Given the description of an element on the screen output the (x, y) to click on. 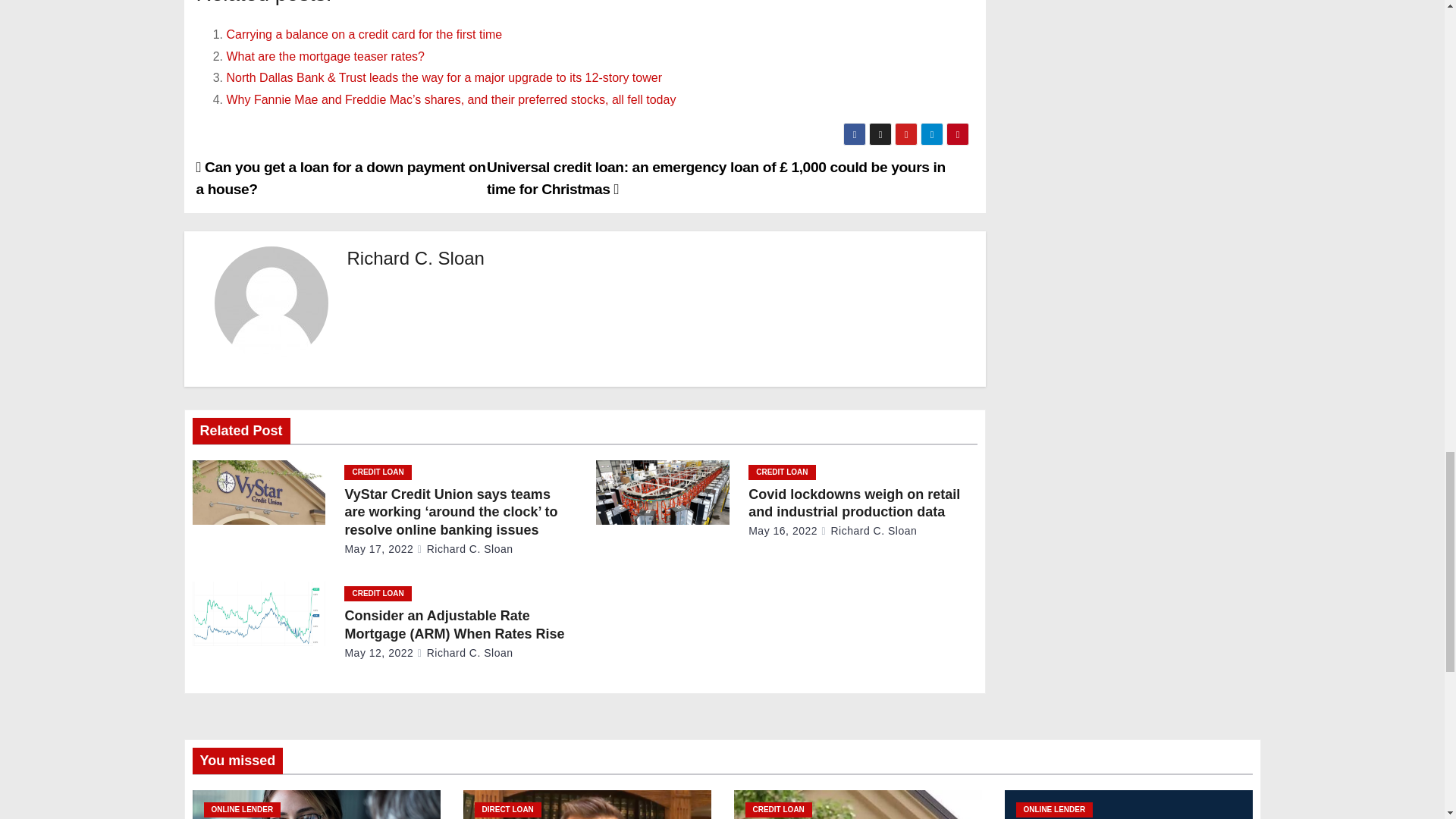
What are the mortgage teaser rates? (324, 56)
Carrying a balance on a credit card for the first time (363, 33)
Carrying a balance on a credit card for the first time (363, 33)
Can you get a loan for a down payment on a house? (339, 177)
Richard C. Sloan (415, 258)
What are the mortgage teaser rates? (324, 56)
